Given the description of an element on the screen output the (x, y) to click on. 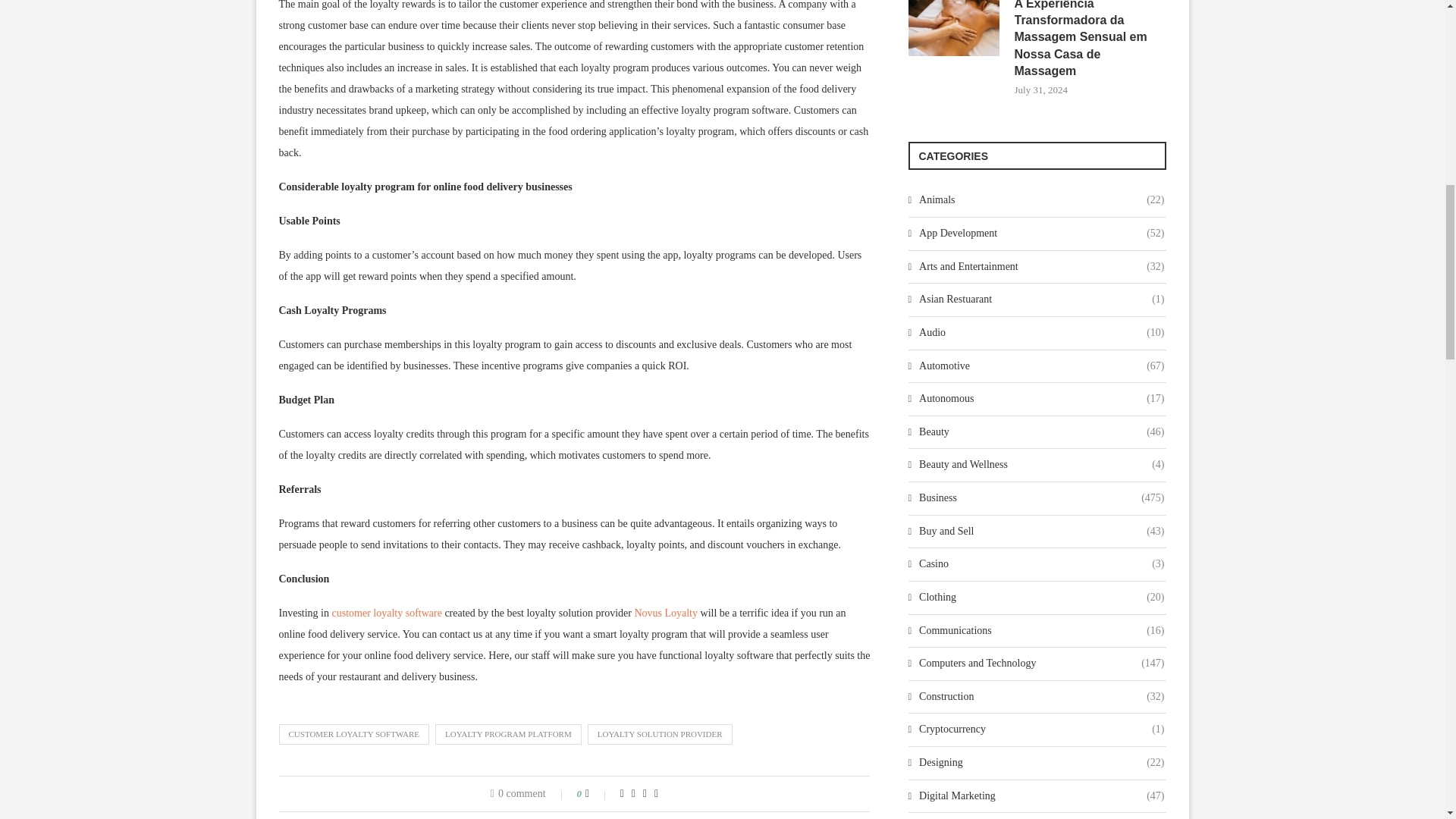
CUSTOMER LOYALTY SOFTWARE (354, 733)
LOYALTY SOLUTION PROVIDER (660, 733)
customer loyalty software (386, 613)
Like (597, 793)
LOYALTY PROGRAM PLATFORM (507, 733)
Novus Loyalty (665, 613)
